Given the description of an element on the screen output the (x, y) to click on. 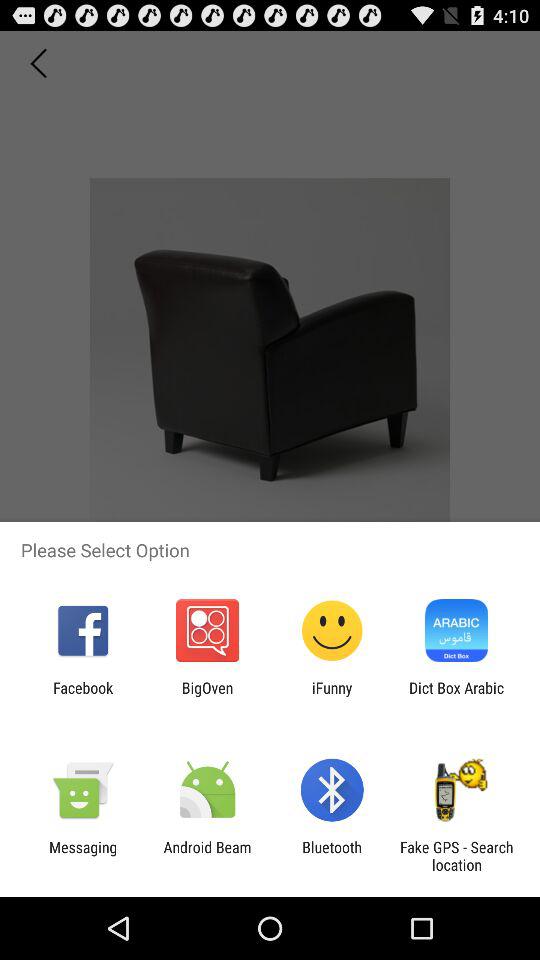
swipe to android beam icon (207, 856)
